Given the description of an element on the screen output the (x, y) to click on. 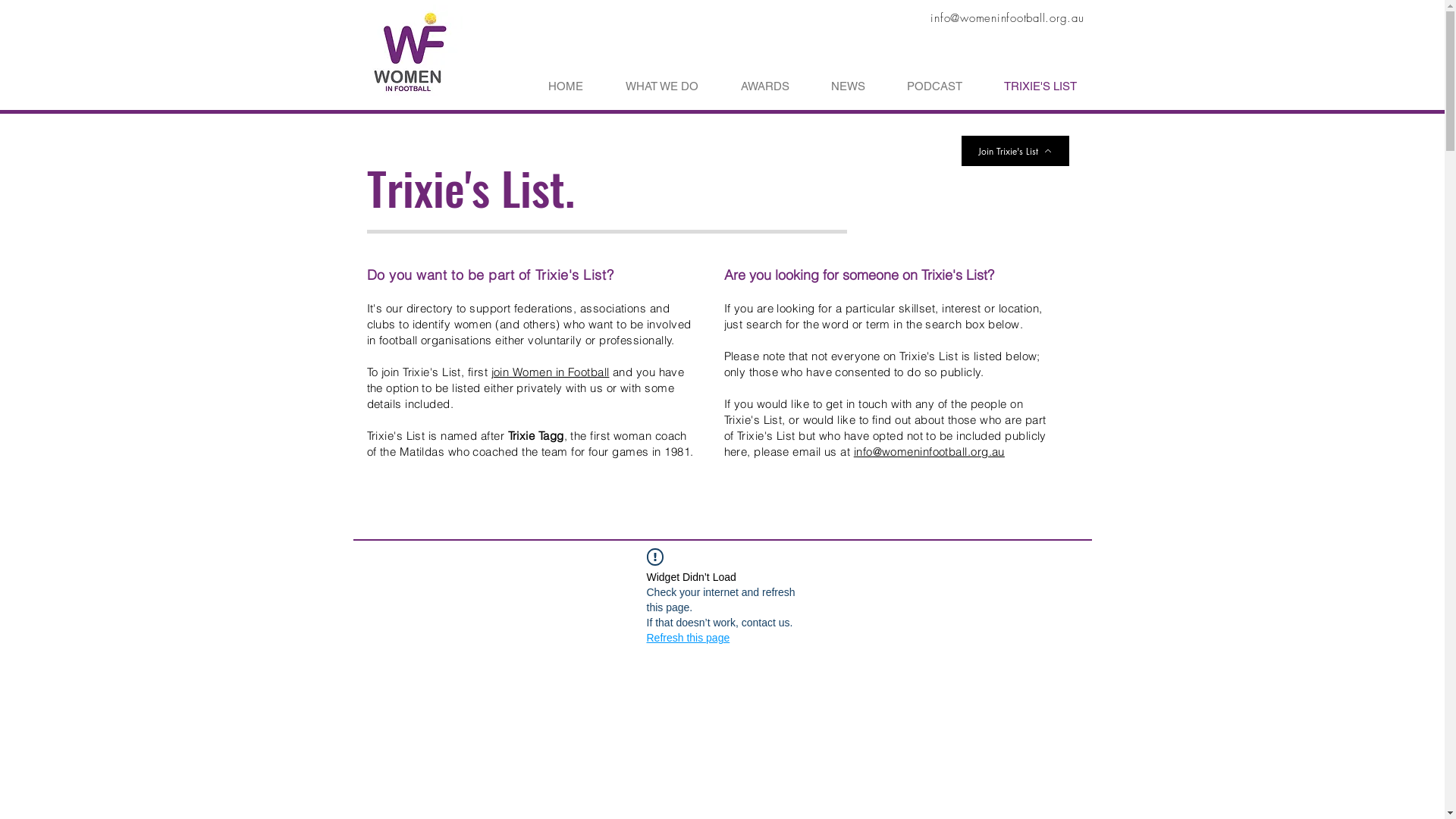
AWARDS Element type: text (750, 86)
NEWS Element type: text (834, 86)
Refresh this page Element type: text (687, 637)
info@womeninfootball.org.au Element type: text (1006, 17)
info@womeninfootball.org.au Element type: text (928, 451)
WHAT WE DO Element type: text (647, 86)
join Women in Football Element type: text (550, 371)
Join Trixie's List Element type: text (1015, 150)
PODCAST Element type: text (920, 86)
HOME Element type: text (550, 86)
TRIXIE'S LIST Element type: text (1026, 86)
